Given the description of an element on the screen output the (x, y) to click on. 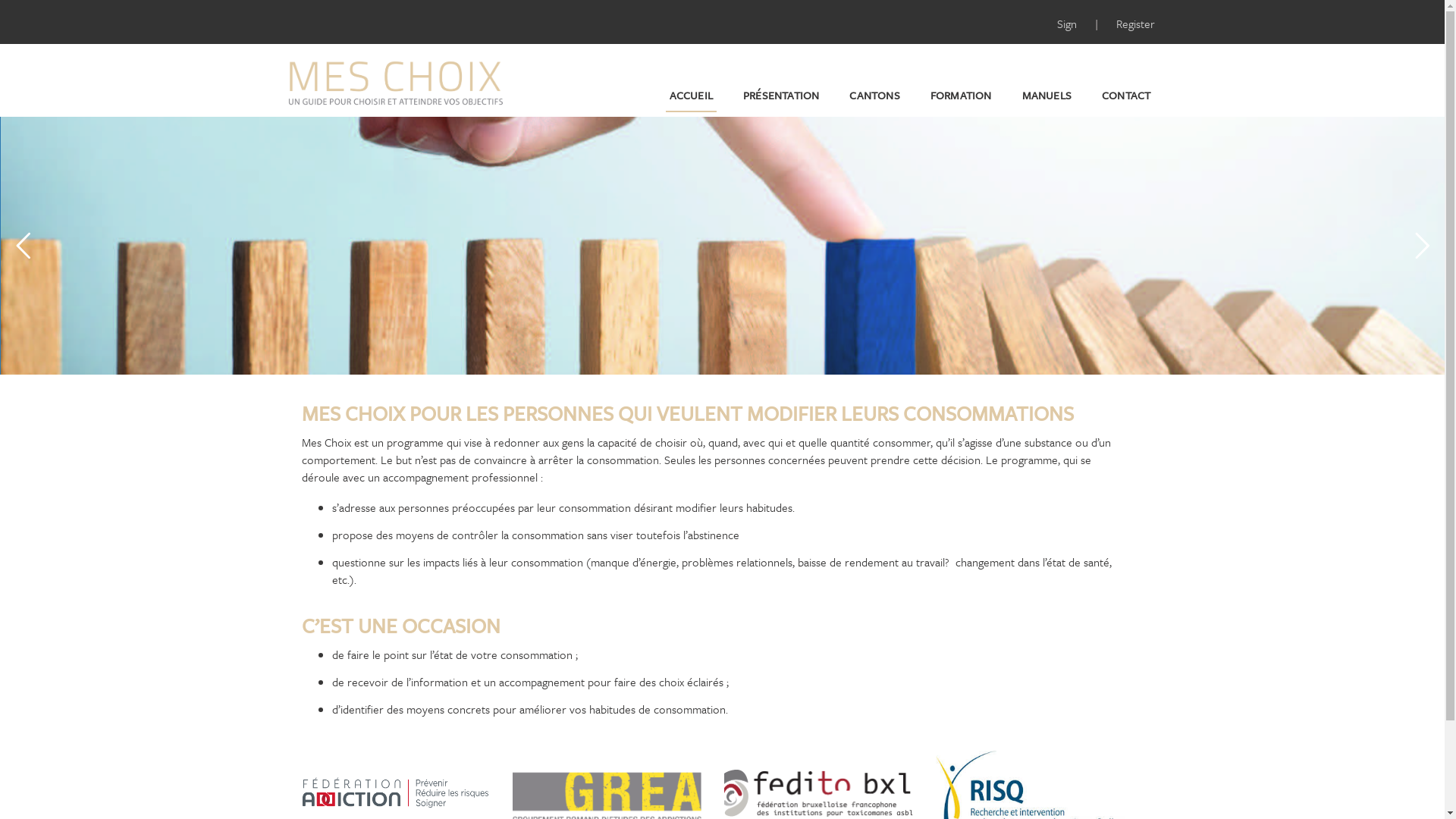
MANUELS Element type: text (1046, 95)
Sign Element type: text (1068, 23)
ACCUEIL Element type: text (690, 95)
CANTONS Element type: text (874, 95)
CONTACT Element type: text (1126, 95)
Register Element type: text (1135, 23)
FORMATION Element type: text (960, 95)
